Given the description of an element on the screen output the (x, y) to click on. 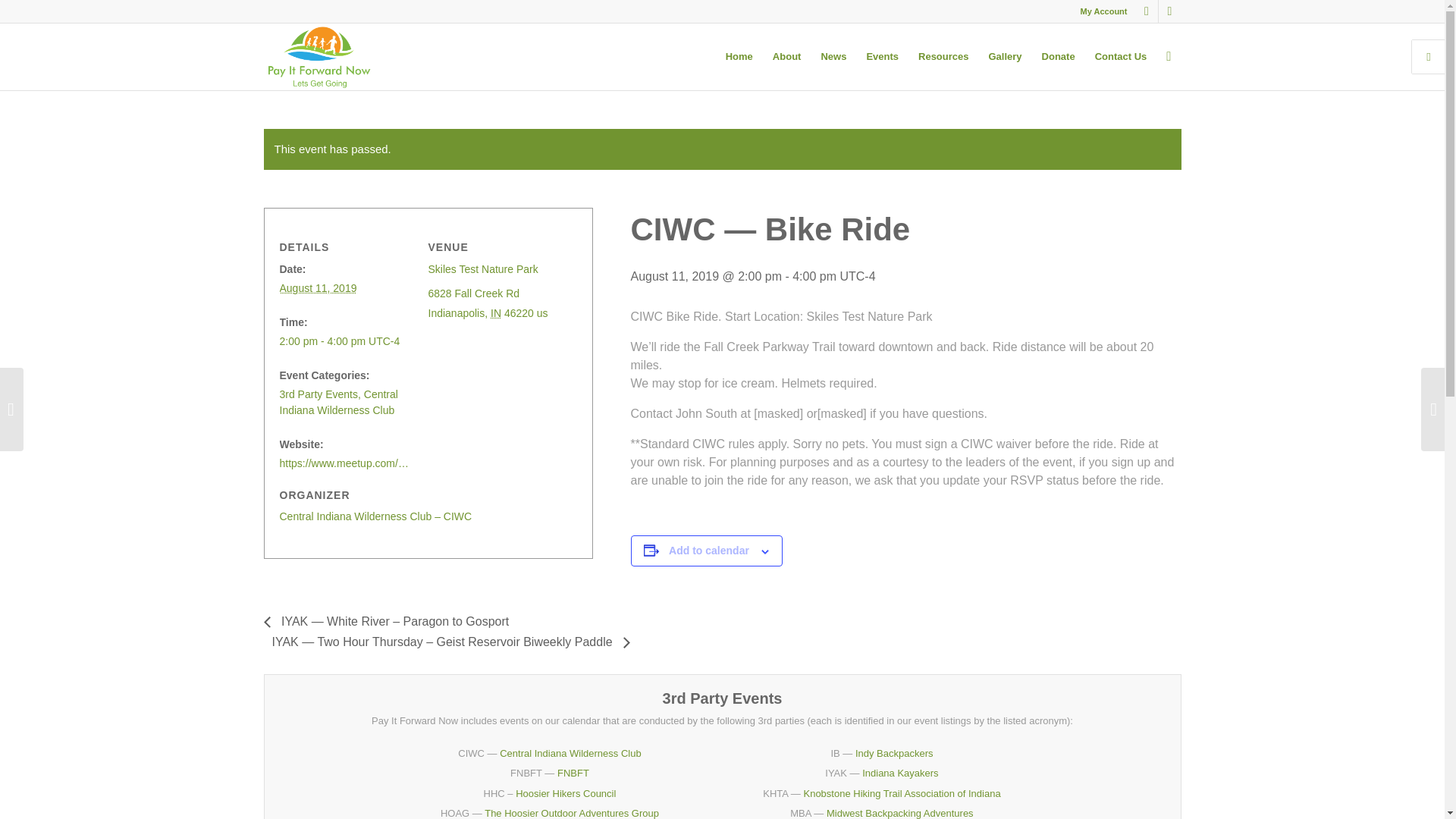
My Account (1103, 11)
Central Indiana Wilderness Club (569, 753)
Contact Us (1120, 56)
3rd Party Events (318, 394)
Add to calendar (708, 550)
2019-08-11 (317, 287)
2019-08-11 (346, 341)
Resources (943, 56)
Central Indiana Wilderness Club (338, 402)
Facebook (1146, 11)
